Given the description of an element on the screen output the (x, y) to click on. 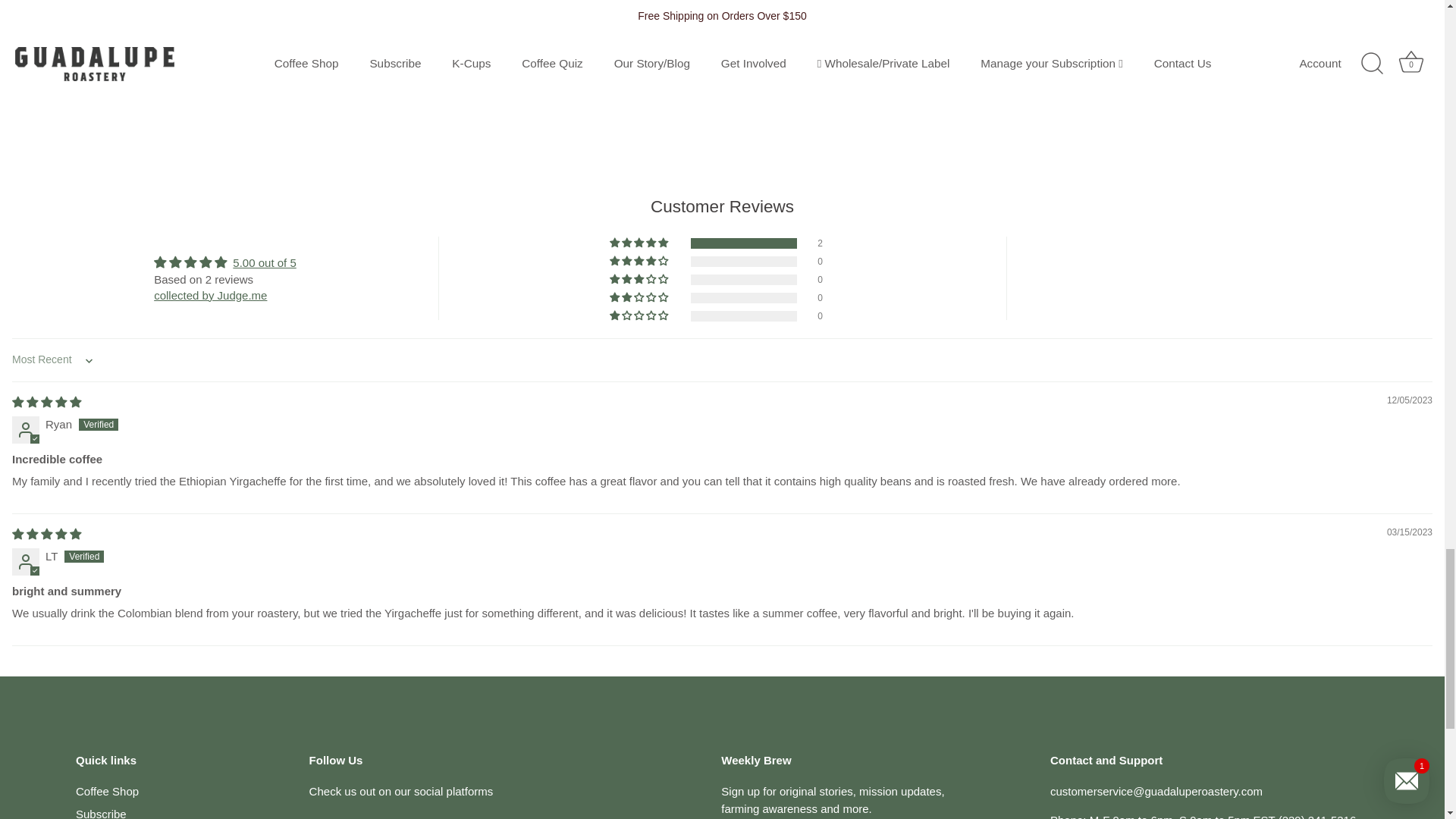
tel:239415316  (1317, 816)
